Given the description of an element on the screen output the (x, y) to click on. 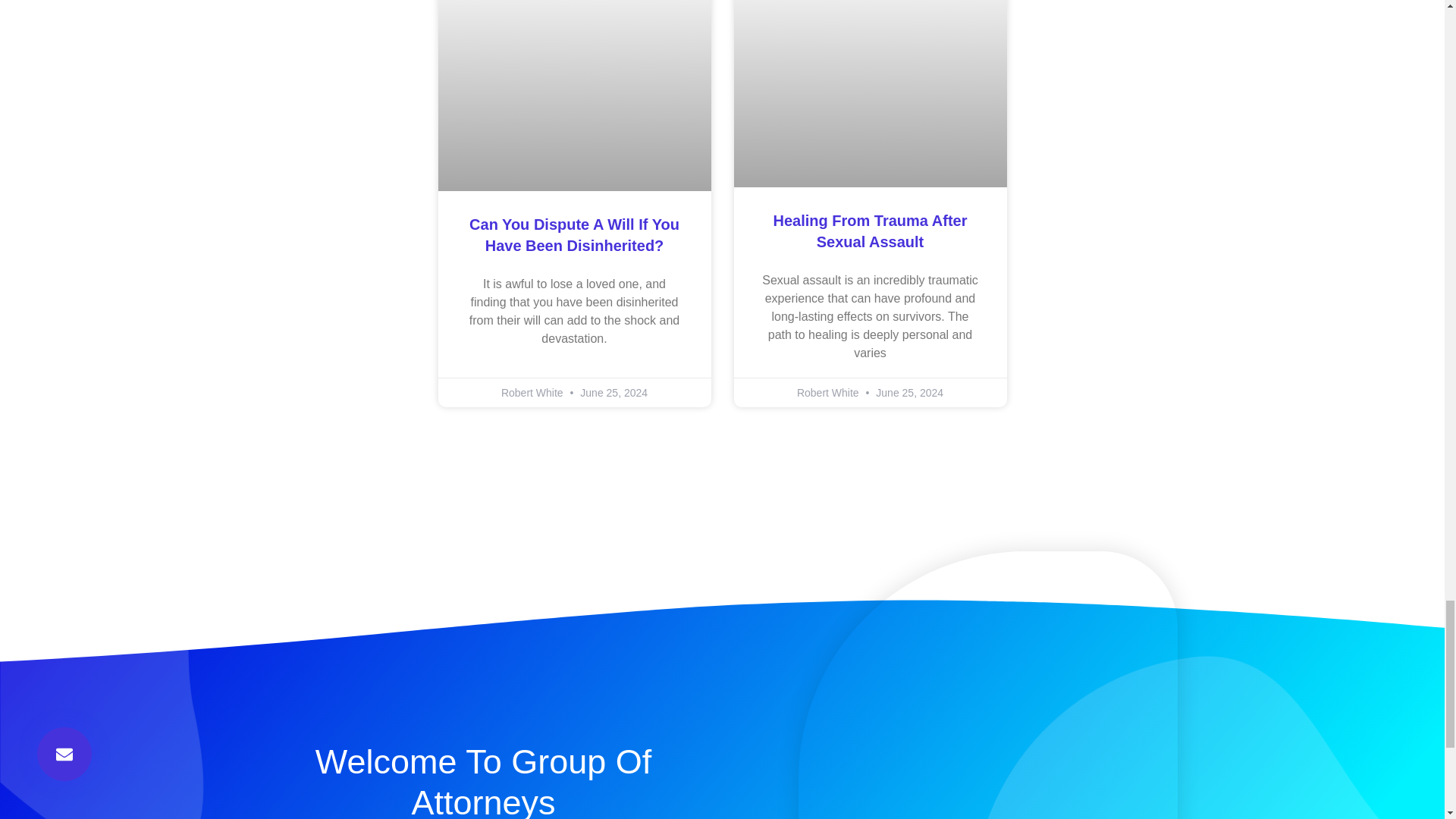
1 (986, 685)
